Given the description of an element on the screen output the (x, y) to click on. 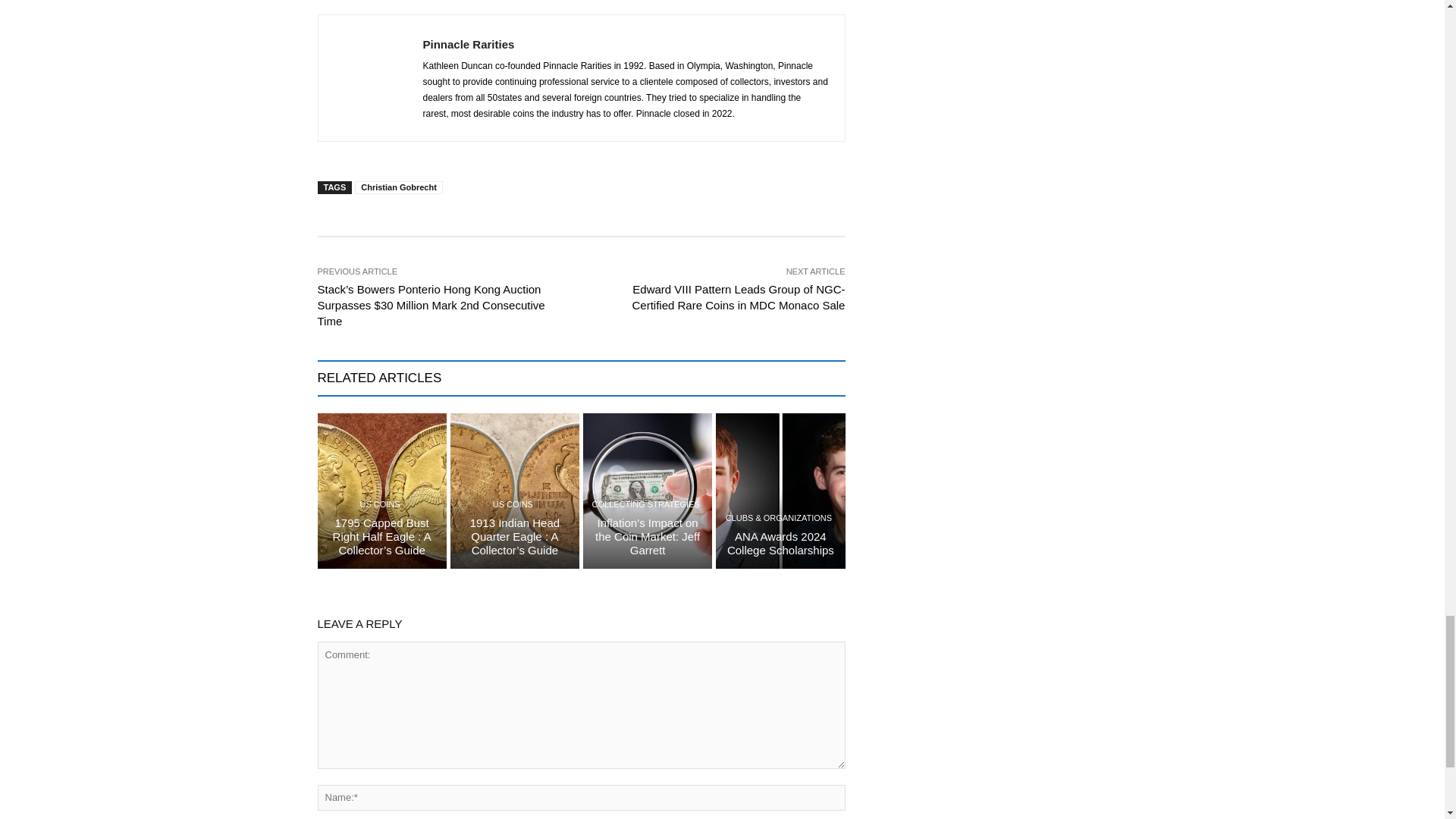
Pinnacle Rarities (369, 78)
ANA Awards 2024 College Scholarships (780, 490)
ANA Awards 2024 College Scholarships (780, 542)
